Given the description of an element on the screen output the (x, y) to click on. 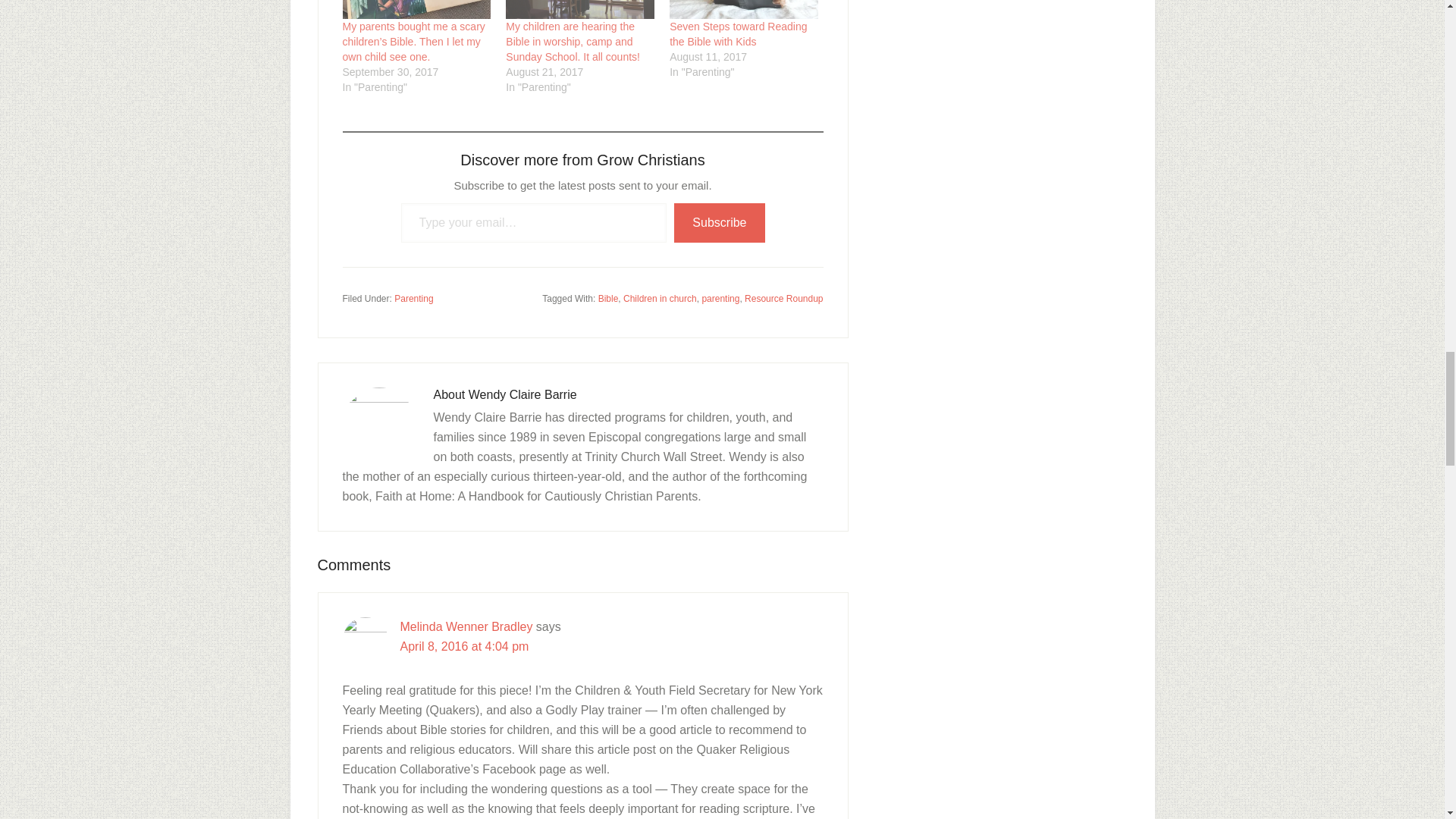
Please fill in this field. (533, 223)
Seven Steps toward Reading the Bible with Kids (737, 33)
Seven Steps toward Reading the Bible with Kids (743, 9)
